Given the description of an element on the screen output the (x, y) to click on. 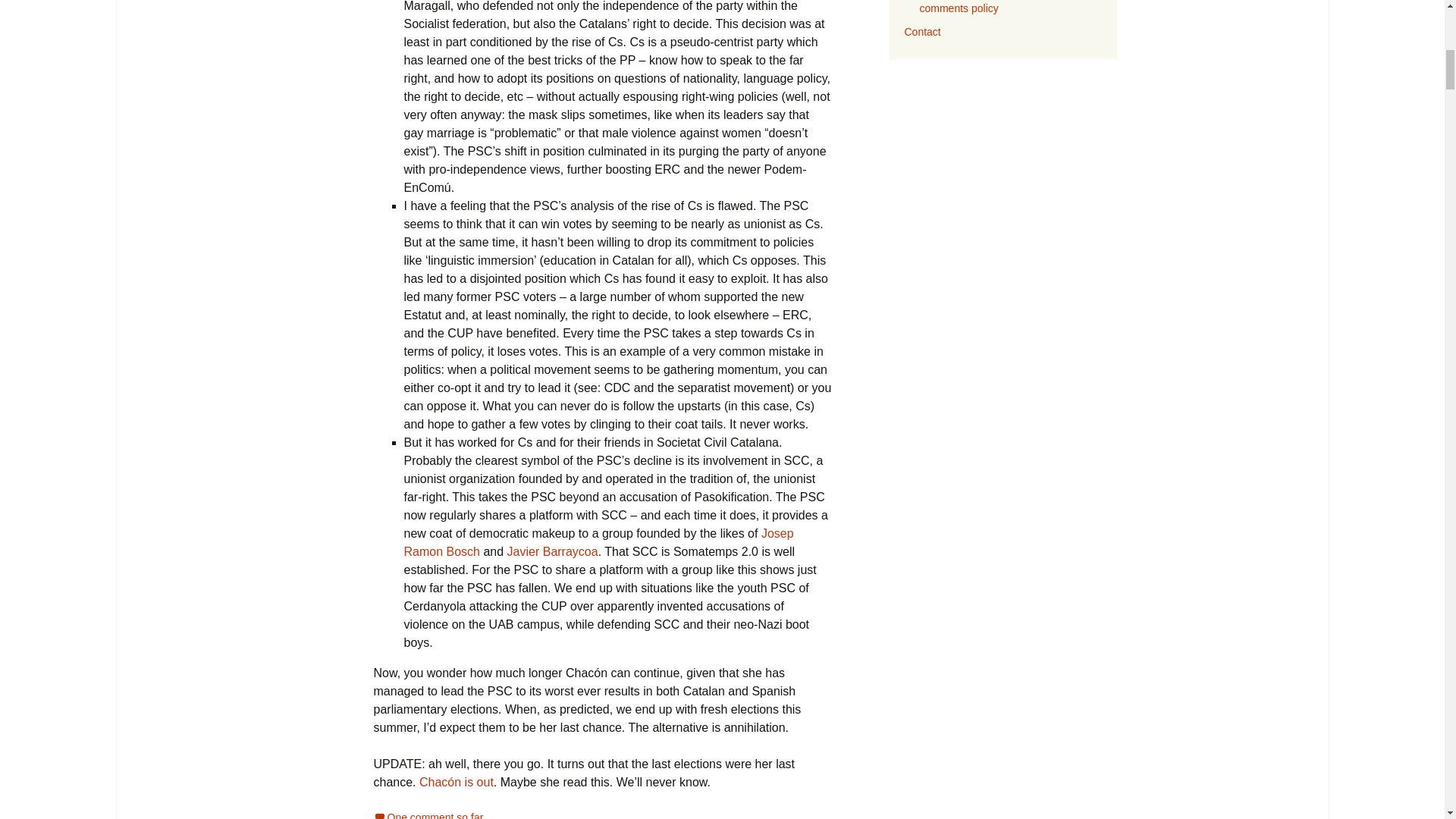
One comment so far (427, 815)
Josep Ramon Bosch (598, 542)
Javier Barraycoa (552, 551)
